Given the description of an element on the screen output the (x, y) to click on. 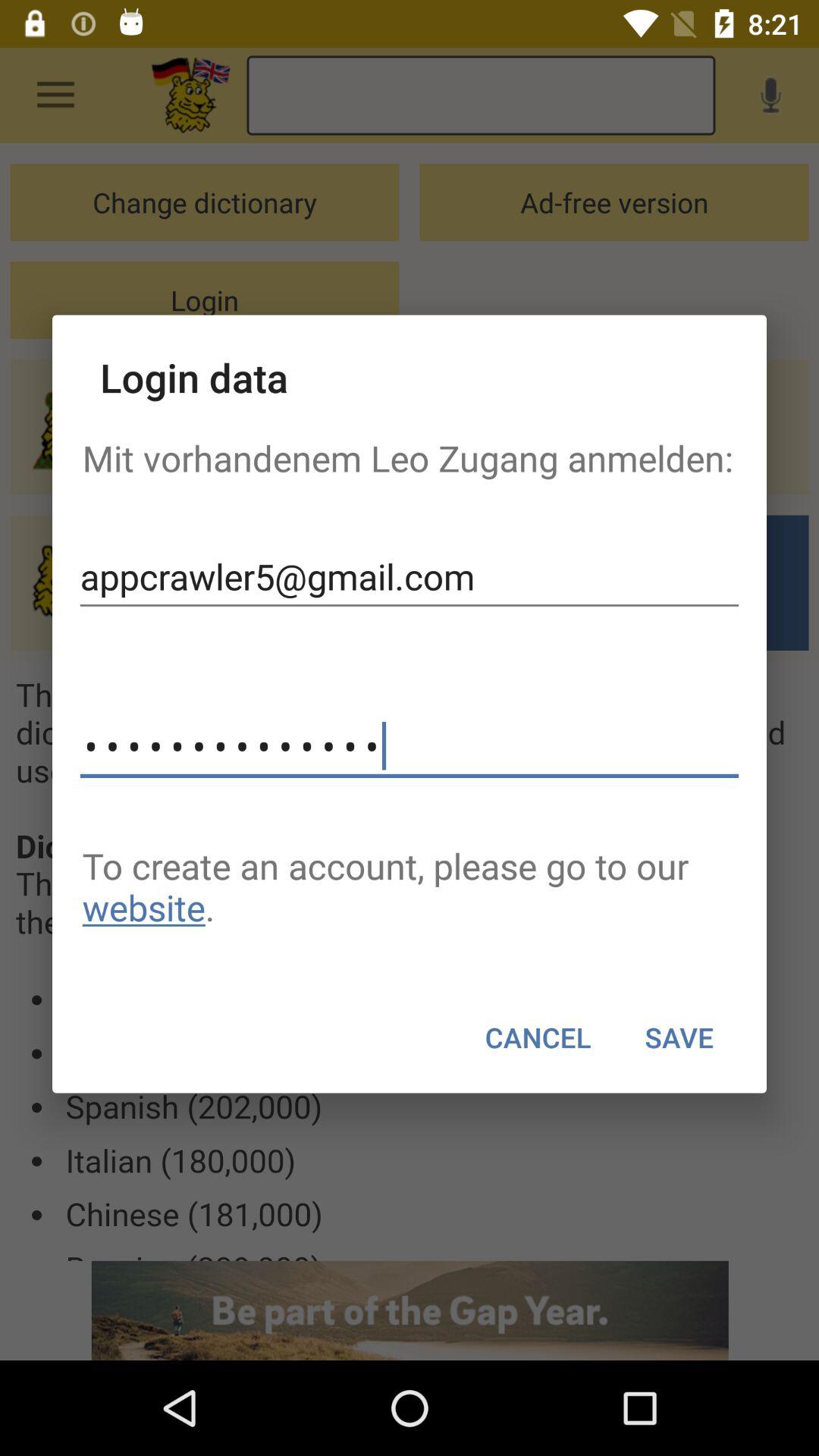
open the appcrawler3116 icon (409, 746)
